Given the description of an element on the screen output the (x, y) to click on. 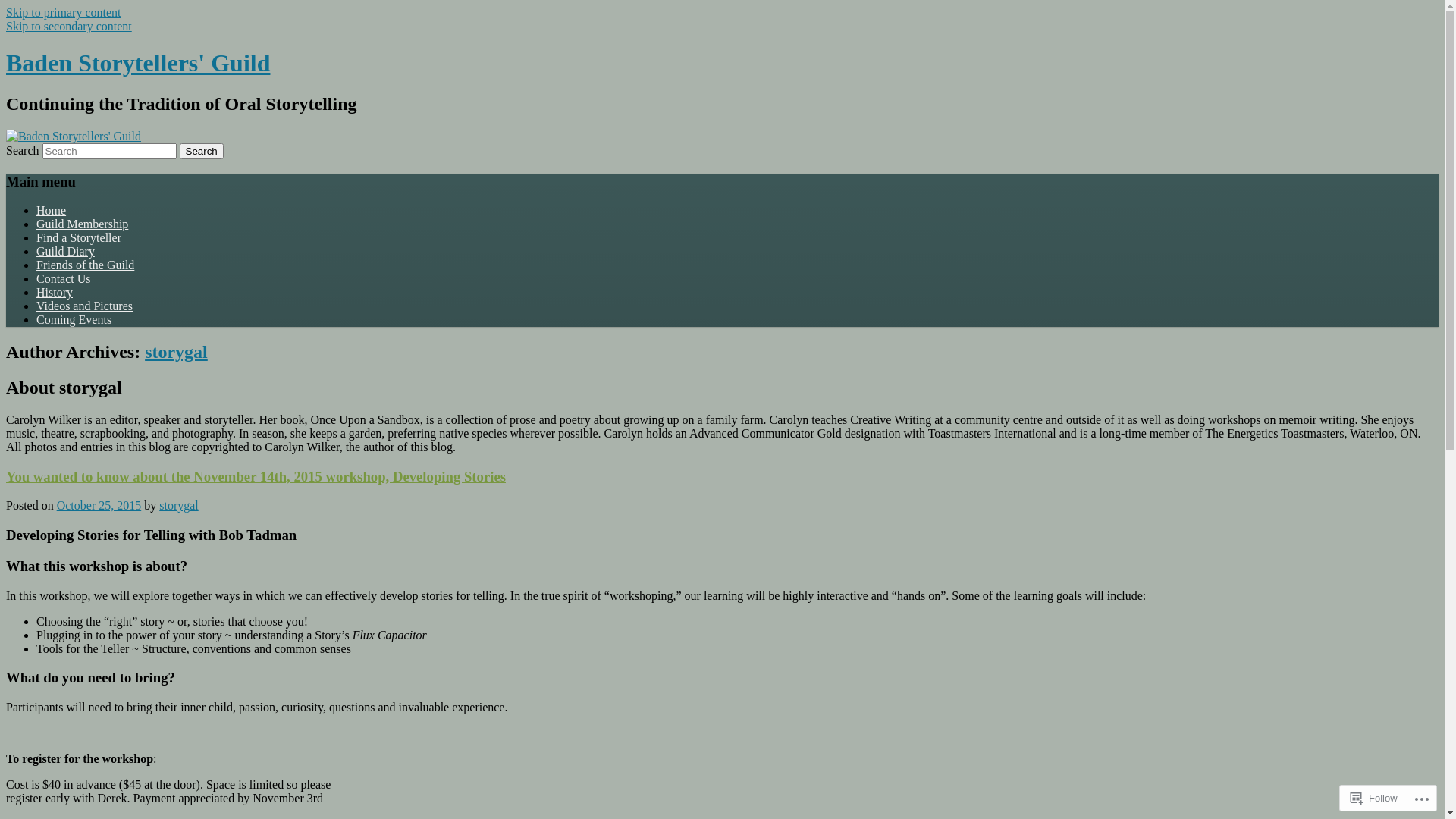
Skip to secondary content Element type: text (68, 25)
Contact Us Element type: text (63, 278)
October 25, 2015 Element type: text (98, 504)
storygal Element type: text (178, 504)
Guild Diary Element type: text (65, 250)
Friends of the Guild Element type: text (85, 264)
Baden Storytellers' Guild Element type: text (137, 62)
Coming Events Element type: text (73, 319)
Search Element type: text (201, 151)
Follow Element type: text (1373, 797)
Find a Storyteller Element type: text (78, 237)
Videos and Pictures Element type: text (84, 305)
storygal Element type: text (175, 351)
History Element type: text (54, 291)
Home Element type: text (50, 209)
Guild Membership Element type: text (82, 223)
Skip to primary content Element type: text (63, 12)
